Given the description of an element on the screen output the (x, y) to click on. 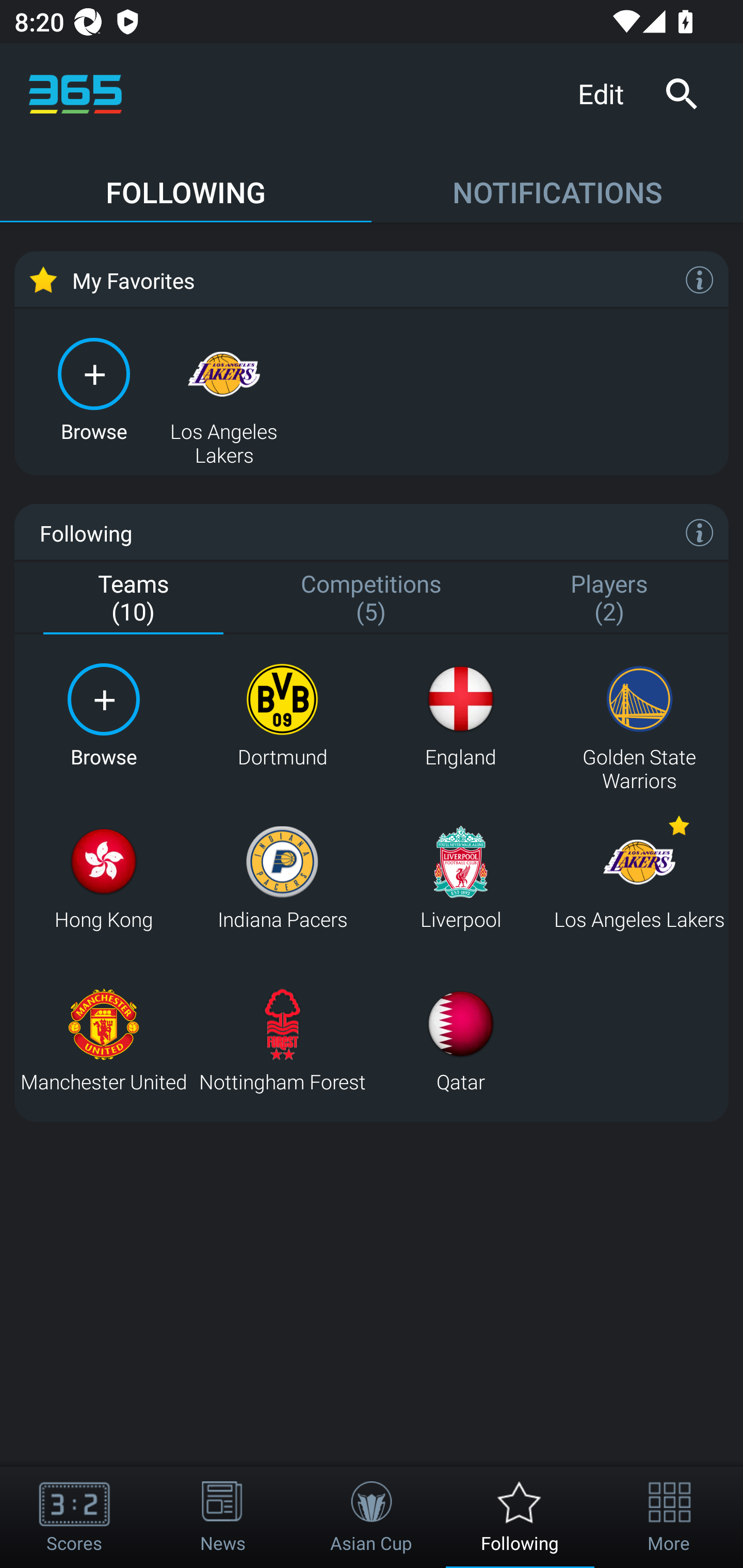
Search (681, 93)
Edit (608, 93)
FOLLOWING (185, 183)
NOTIFICATIONS (557, 183)
Browse (93, 387)
Los Angeles Lakers (224, 387)
Competitions
(5) (371, 598)
Players
(2) (609, 598)
Browse (103, 715)
Dortmund (282, 715)
England (460, 715)
Golden State Warriors (638, 715)
Hong Kong (103, 877)
Indiana Pacers (282, 877)
Liverpool (460, 877)
Los Angeles Lakers (638, 877)
Manchester United (103, 1040)
Nottingham Forest (282, 1040)
Qatar (460, 1040)
Scores (74, 1517)
News (222, 1517)
Asian Cup (371, 1517)
More (668, 1517)
